Given the description of an element on the screen output the (x, y) to click on. 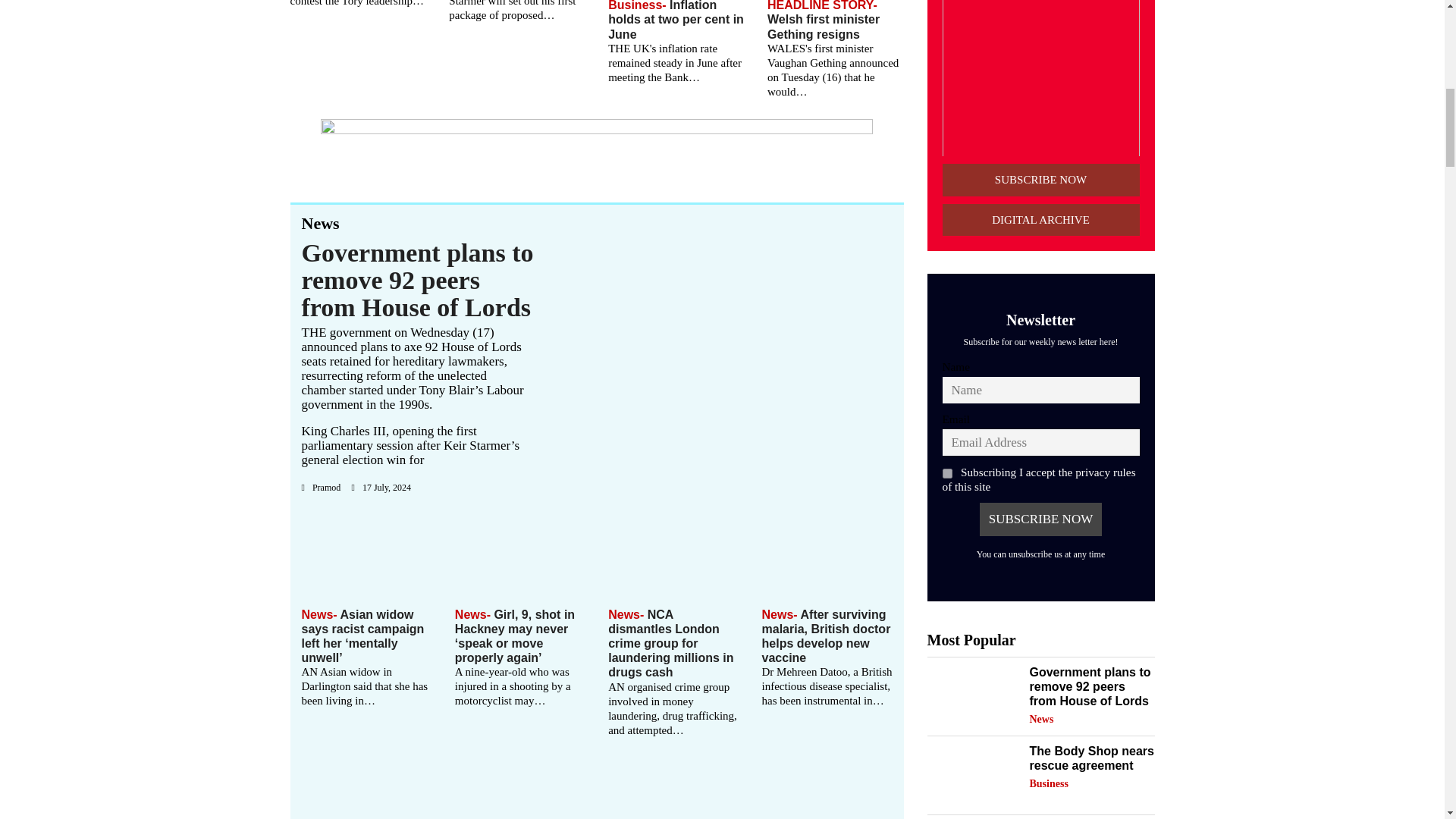
on (947, 473)
Subscribe Now (1040, 519)
